Given the description of an element on the screen output the (x, y) to click on. 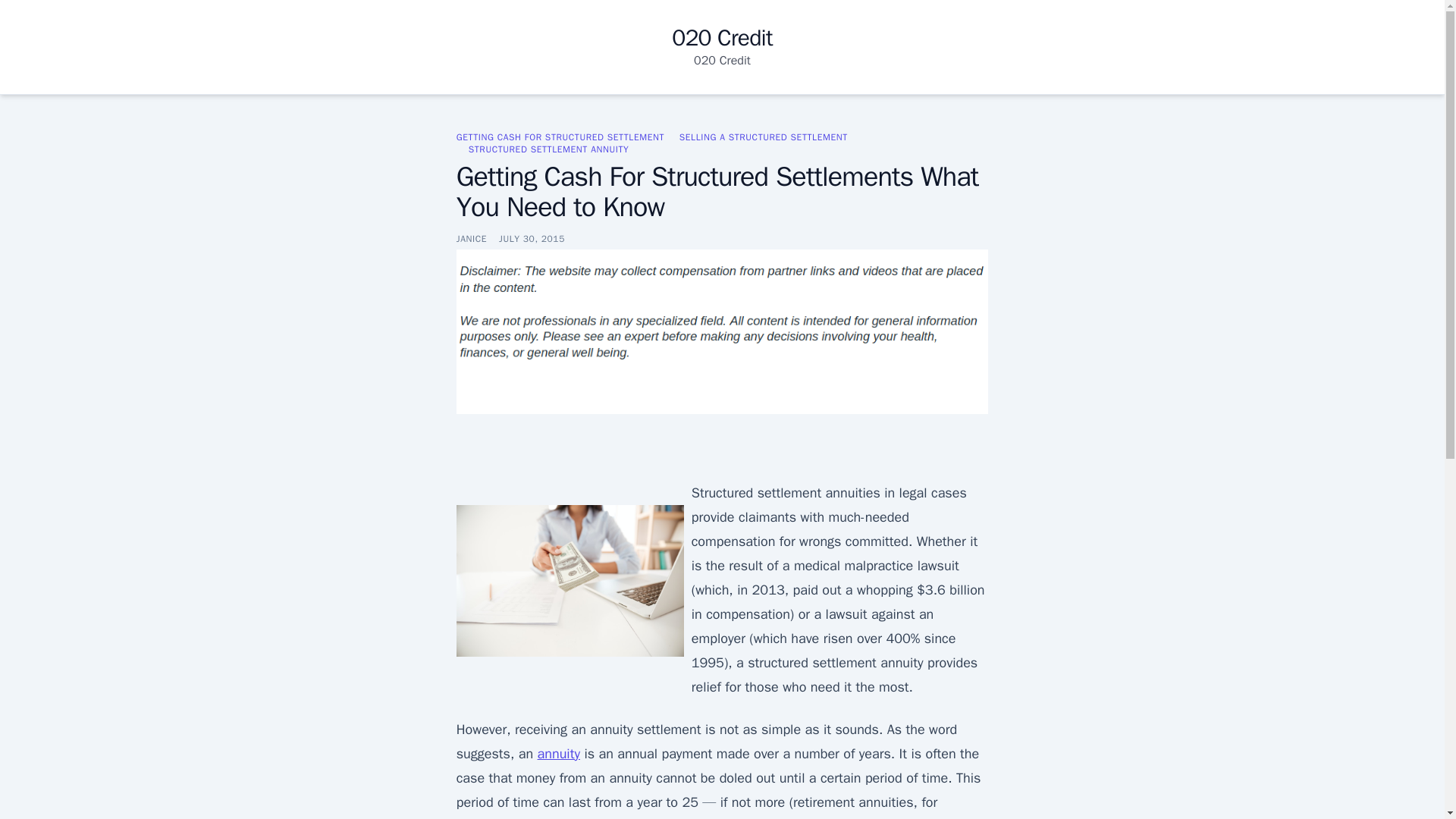
STRUCTURED SETTLEMENT ANNUITY (548, 149)
Cash for structured settlement payments, Lottery payments (558, 753)
020 Credit (722, 37)
SELLING A STRUCTURED SETTLEMENT (763, 137)
annuity (558, 753)
JULY 30, 2015 (531, 238)
GETTING CASH FOR STRUCTURED SETTLEMENT (560, 137)
JANICE (471, 238)
